Given the description of an element on the screen output the (x, y) to click on. 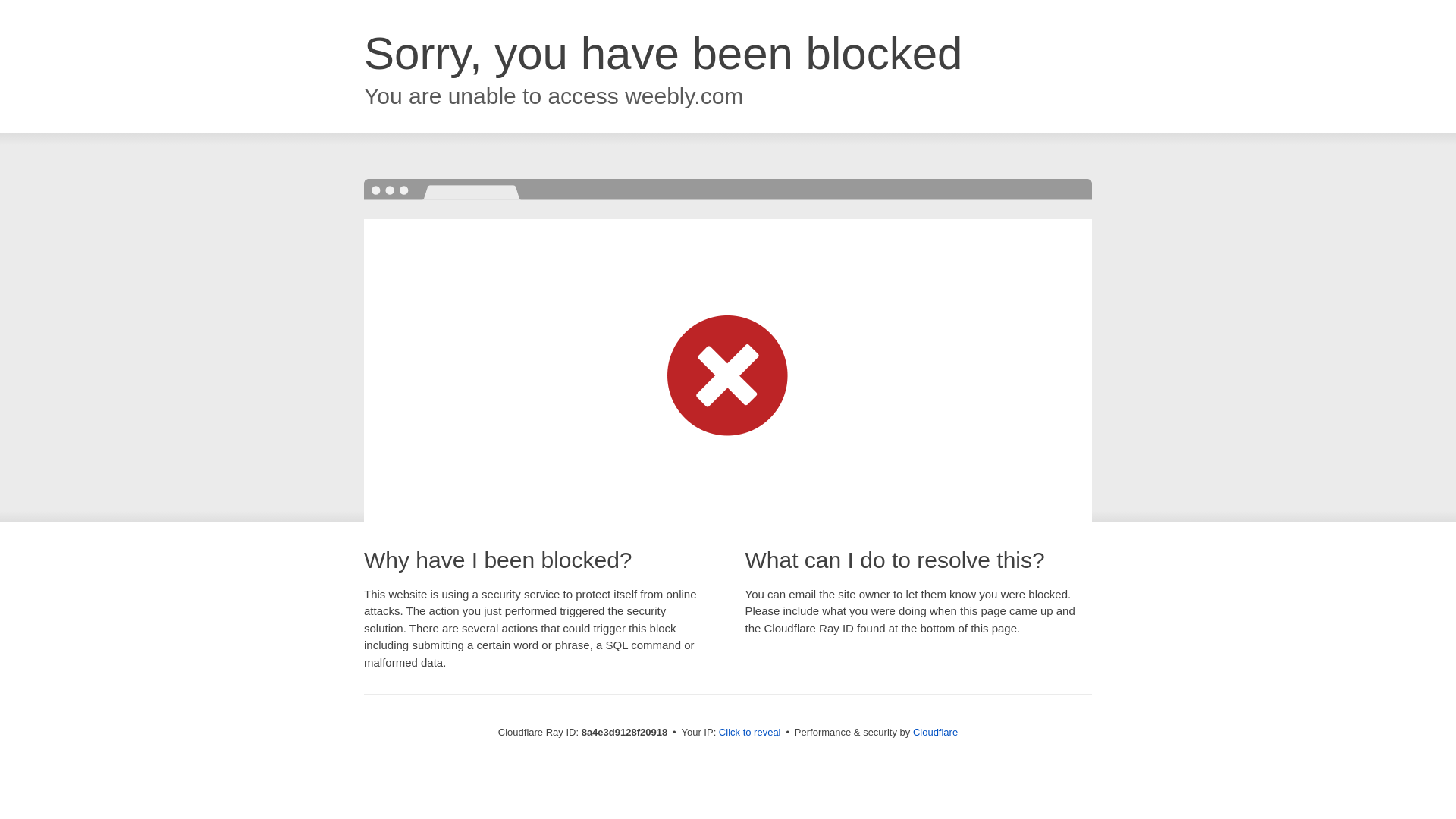
Click to reveal (749, 732)
Cloudflare (935, 731)
